Given the description of an element on the screen output the (x, y) to click on. 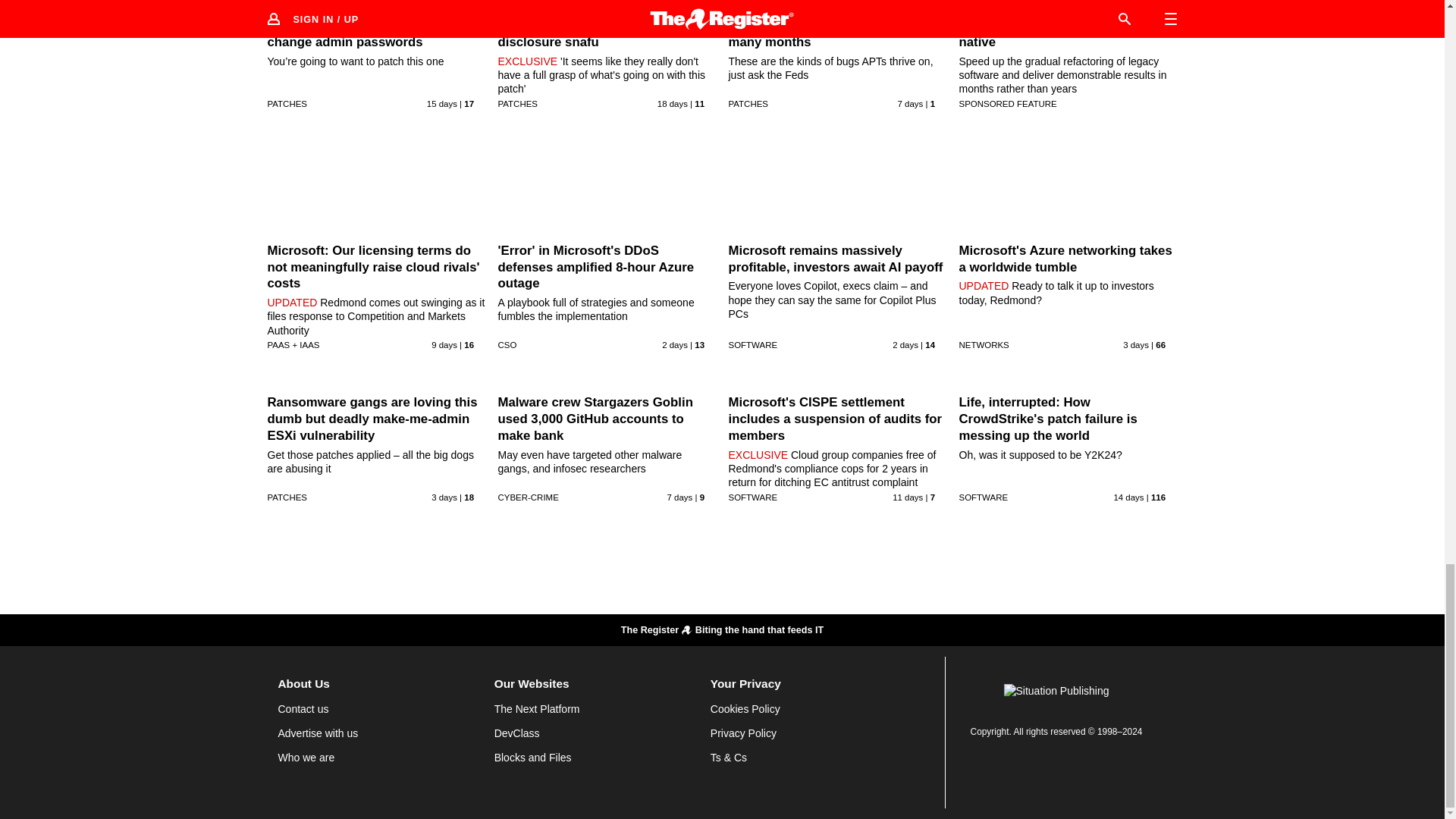
31 Jul 2024 12:58 (674, 344)
30 Jul 2024 14:6 (1135, 344)
18 Jul 2024 10:37 (441, 103)
15 Jul 2024 15:0 (672, 103)
24 Jul 2024 11:34 (443, 344)
26 Jul 2024 13:32 (910, 103)
30 Jul 2024 11:16 (443, 497)
31 Jul 2024 5:38 (905, 344)
